Given the description of an element on the screen output the (x, y) to click on. 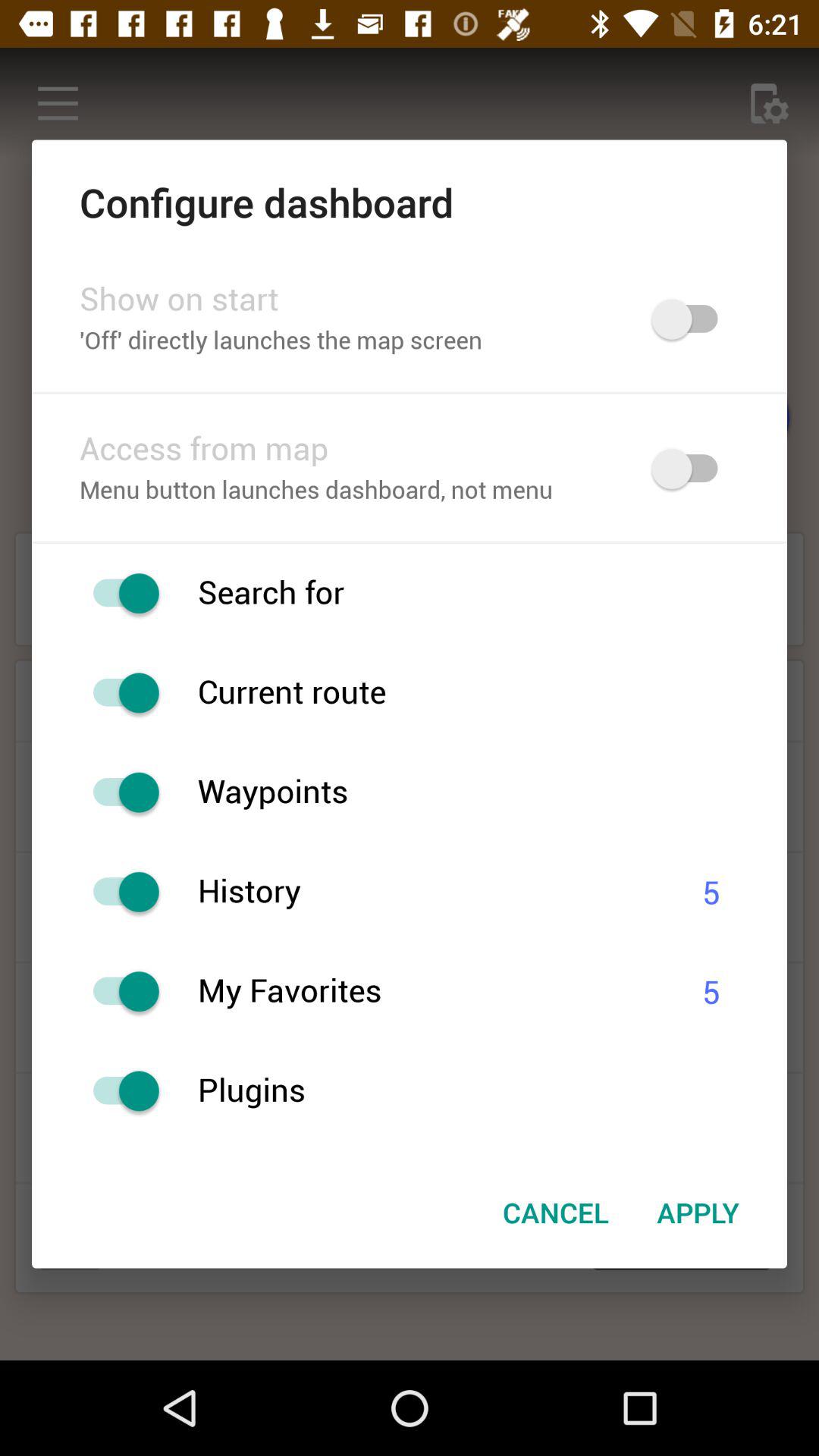
toggle current route (118, 693)
